Given the description of an element on the screen output the (x, y) to click on. 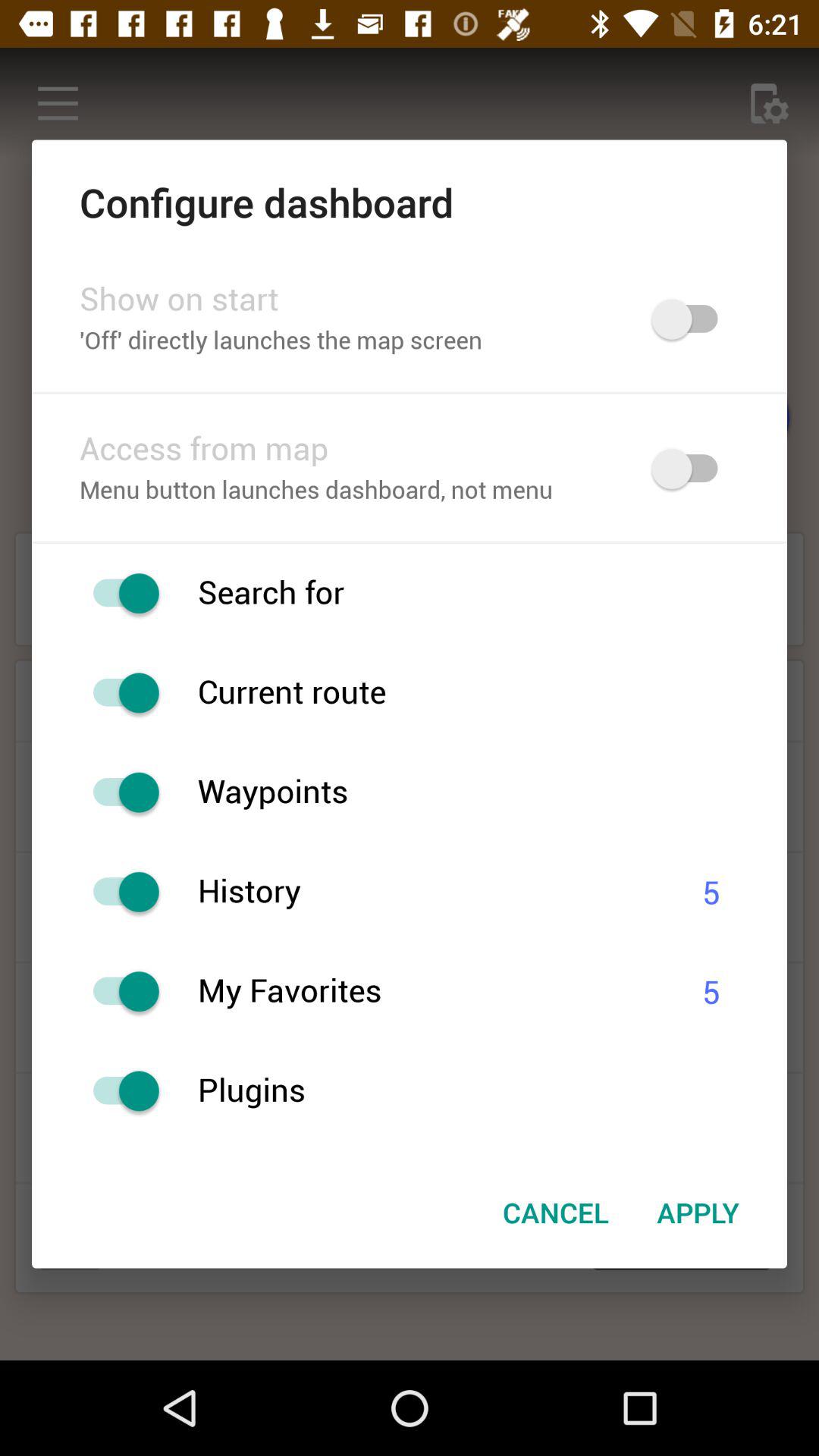
toggle current route (118, 693)
